Given the description of an element on the screen output the (x, y) to click on. 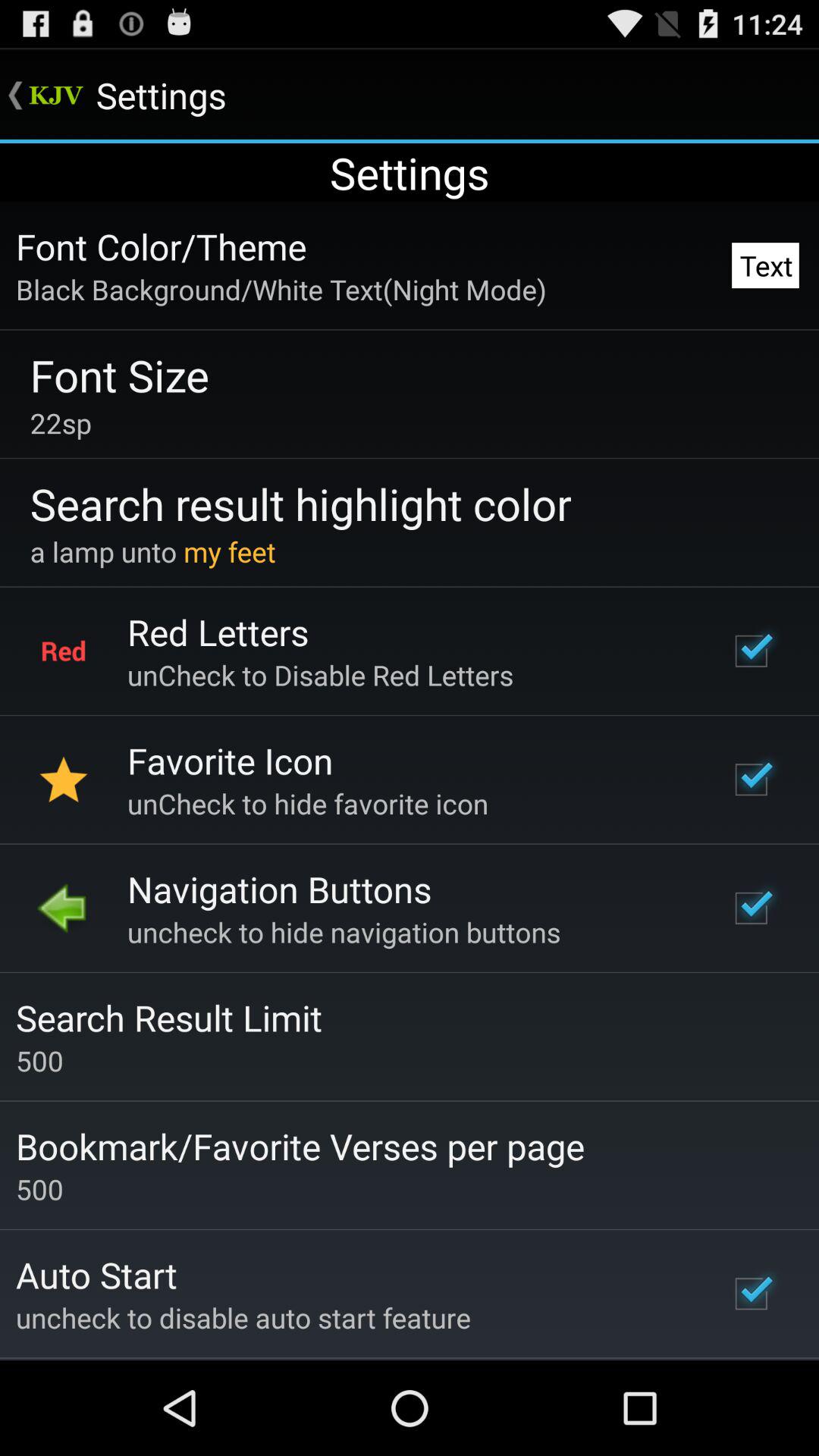
tap the app at the bottom (299, 1146)
